Given the description of an element on the screen output the (x, y) to click on. 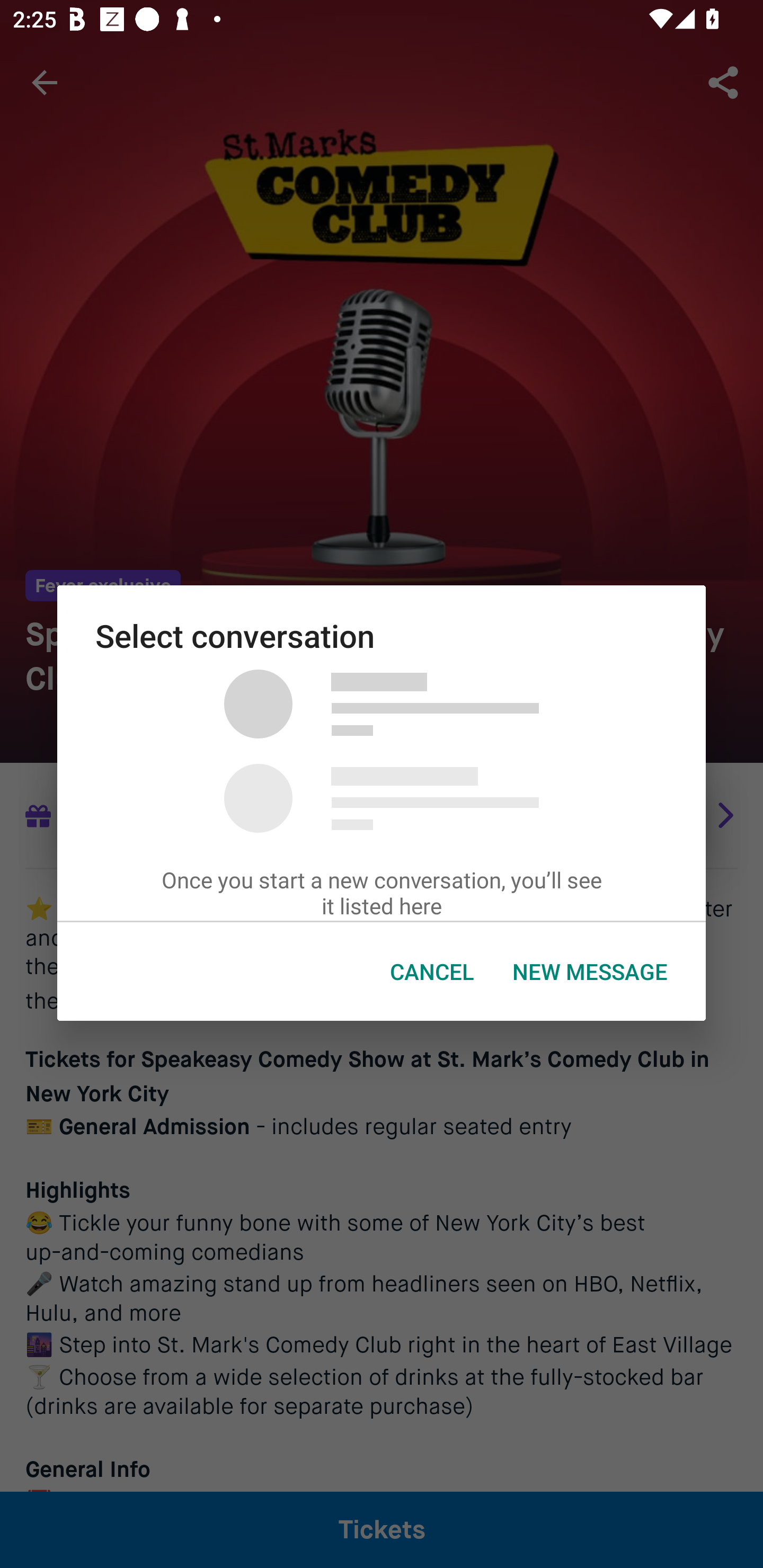
CANCEL (431, 971)
NEW MESSAGE (589, 971)
